Given the description of an element on the screen output the (x, y) to click on. 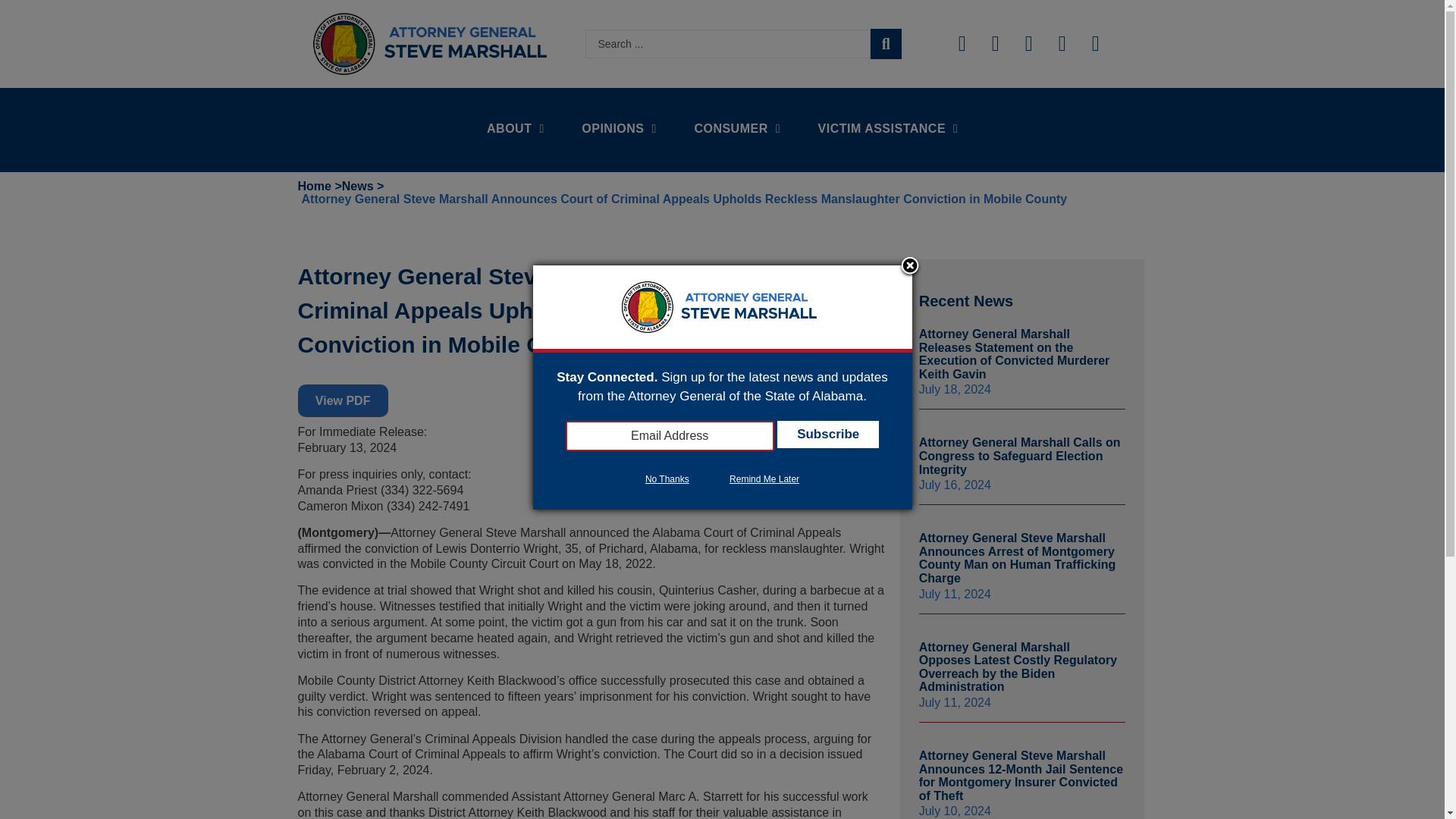
OPINIONS (618, 129)
Email Address (670, 435)
ABOUT (515, 129)
Subscribe (828, 433)
VICTIM ASSISTANCE (887, 129)
CONSUMER (736, 129)
View PDF (342, 400)
